Given the description of an element on the screen output the (x, y) to click on. 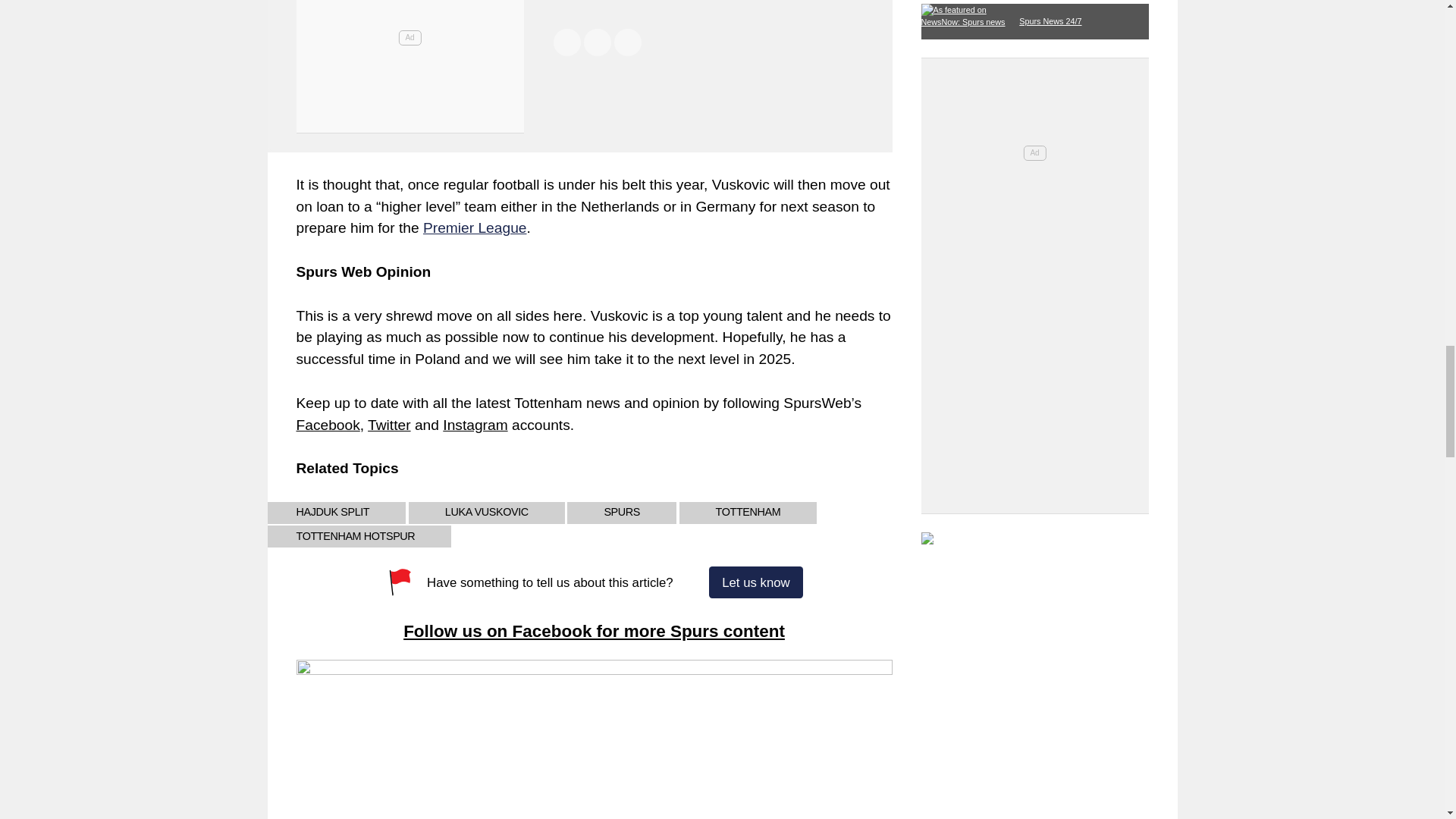
Instagram (474, 424)
Facebook (327, 424)
Twitter (389, 424)
Premier League (475, 227)
